Given the description of an element on the screen output the (x, y) to click on. 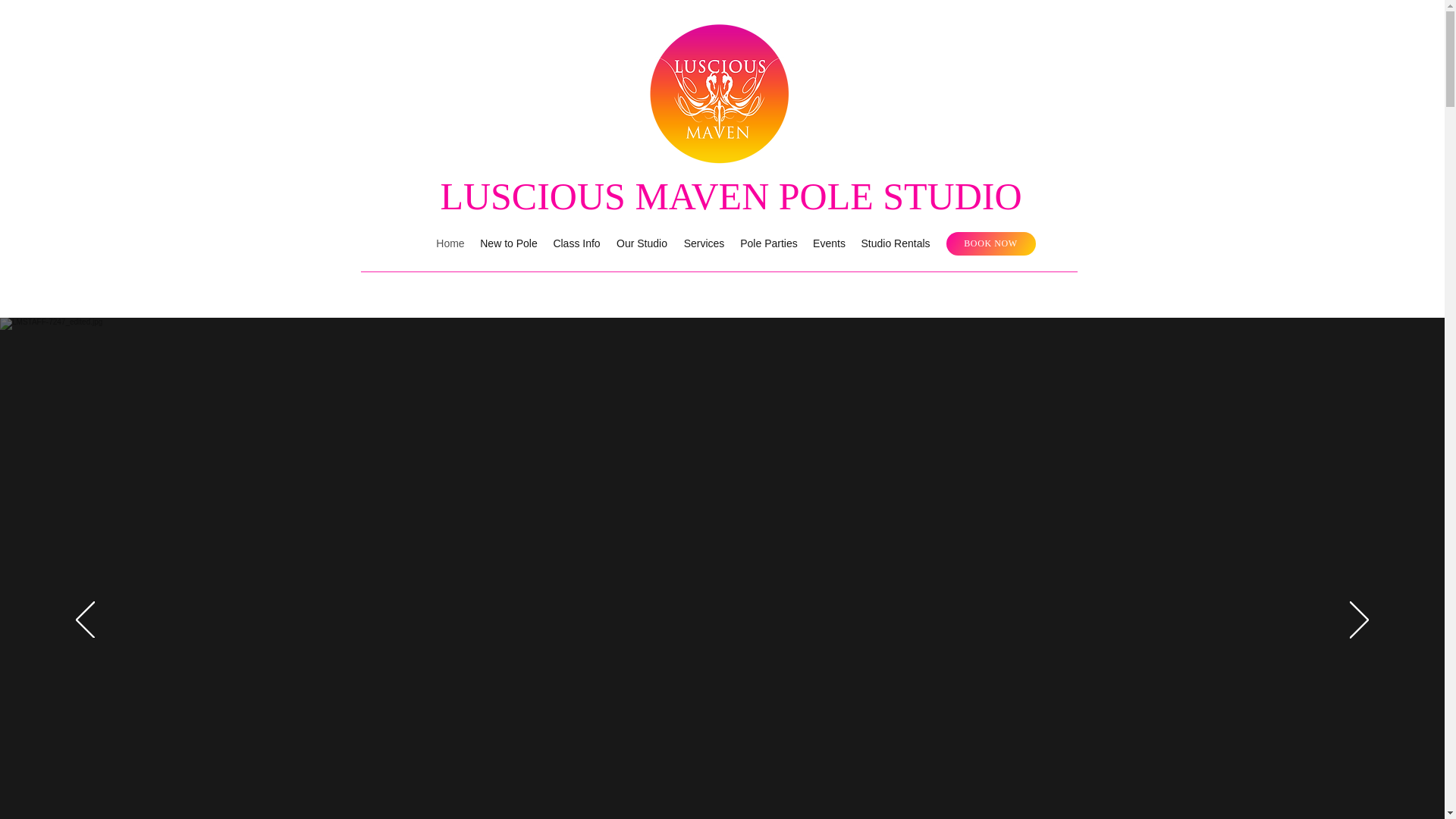
Pole Parties (766, 243)
New to Pole (510, 243)
Services (702, 243)
Studio Rentals (892, 243)
LUSCIOUS MAVEN POLE STUDIO (730, 196)
Home (452, 243)
Events (826, 243)
BOOK NOW (990, 243)
Our Studio (641, 243)
Class Info (577, 243)
